Given the description of an element on the screen output the (x, y) to click on. 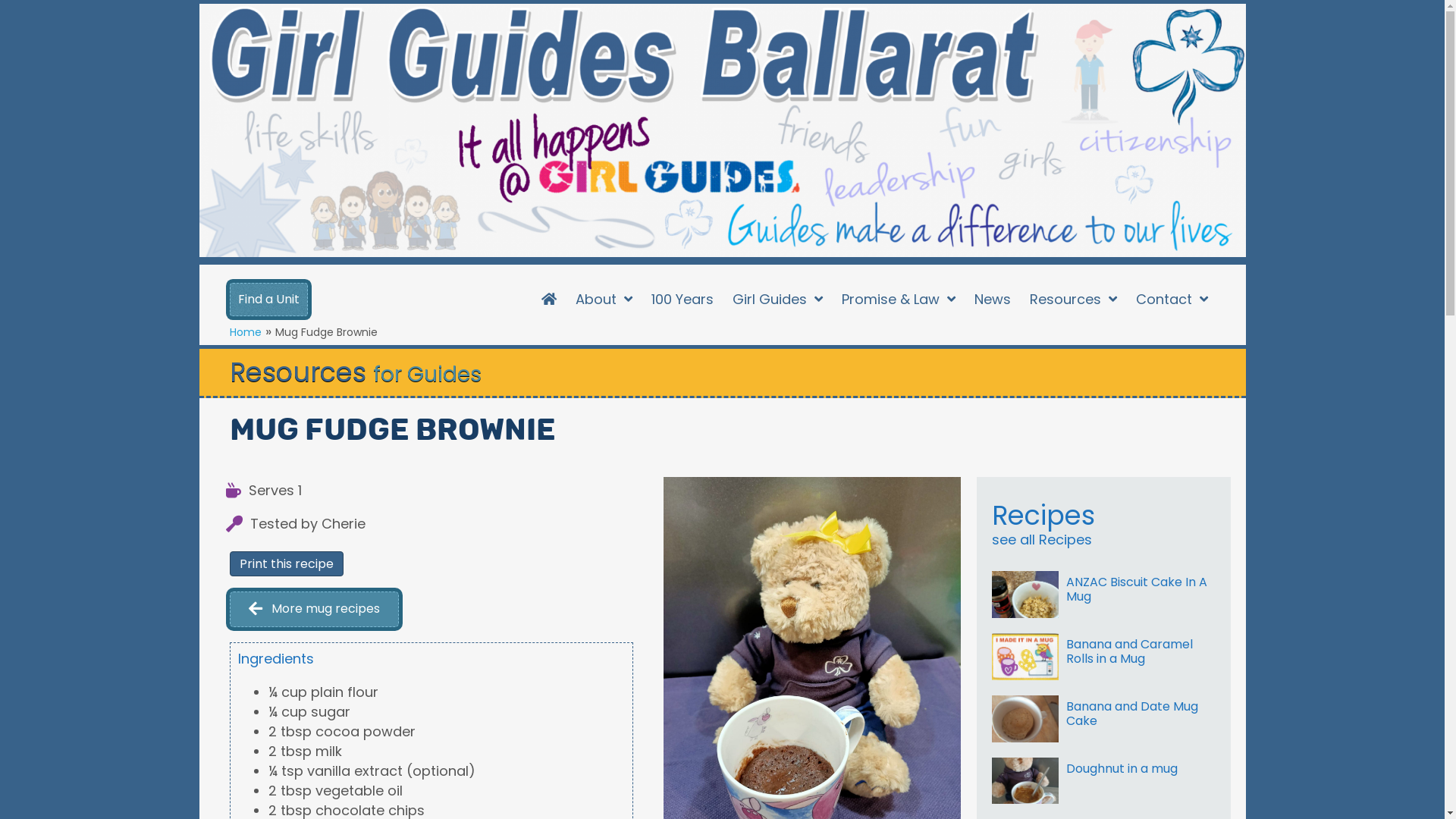
Doughnut in a mug Element type: hover (1103, 780)
News Element type: text (992, 299)
Anzac Mug Cake Element type: hover (1025, 594)
100 Years Element type: text (682, 299)
ANZAC Biscuit Cake In A Mug Element type: hover (1103, 594)
Resources Element type: text (1073, 299)
About Element type: text (603, 299)
HeaderLayout780x5Shaded2 Element type: hover (721, 130)
Contact Element type: text (1171, 299)
Doughnut Mug Element type: hover (1025, 780)
Promise & Law Element type: text (898, 299)
Print this recipe Element type: text (285, 563)
Banana and Date Mug Cake Element type: hover (1103, 718)
Recipes
see all Recipes Element type: text (1103, 523)
Banana and Caramel Rolls in a Mug Element type: hover (1103, 656)
Find a Unit Element type: text (268, 299)
More mug recipes Element type: text (313, 609)
Mug Badge Woven Element type: hover (1025, 656)
Home Element type: text (244, 331)
Bannana And Date Mug Cake Element type: hover (1025, 718)
Girl Guides Element type: text (777, 299)
